Given the description of an element on the screen output the (x, y) to click on. 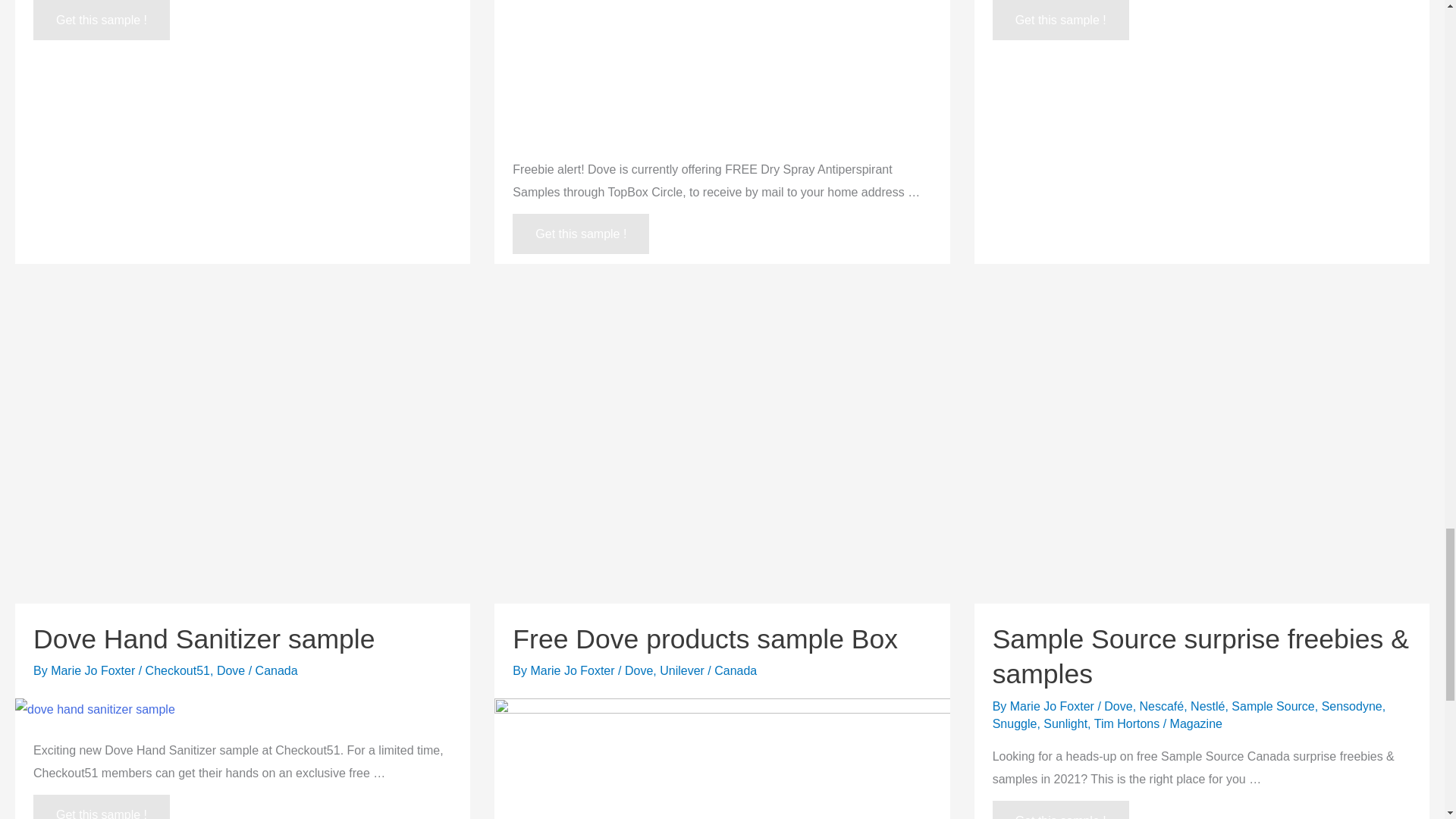
View all posts by Marie Jo Foxter (1053, 706)
View all posts by Marie Jo Foxter (573, 670)
View all posts by Marie Jo Foxter (94, 670)
